Given the description of an element on the screen output the (x, y) to click on. 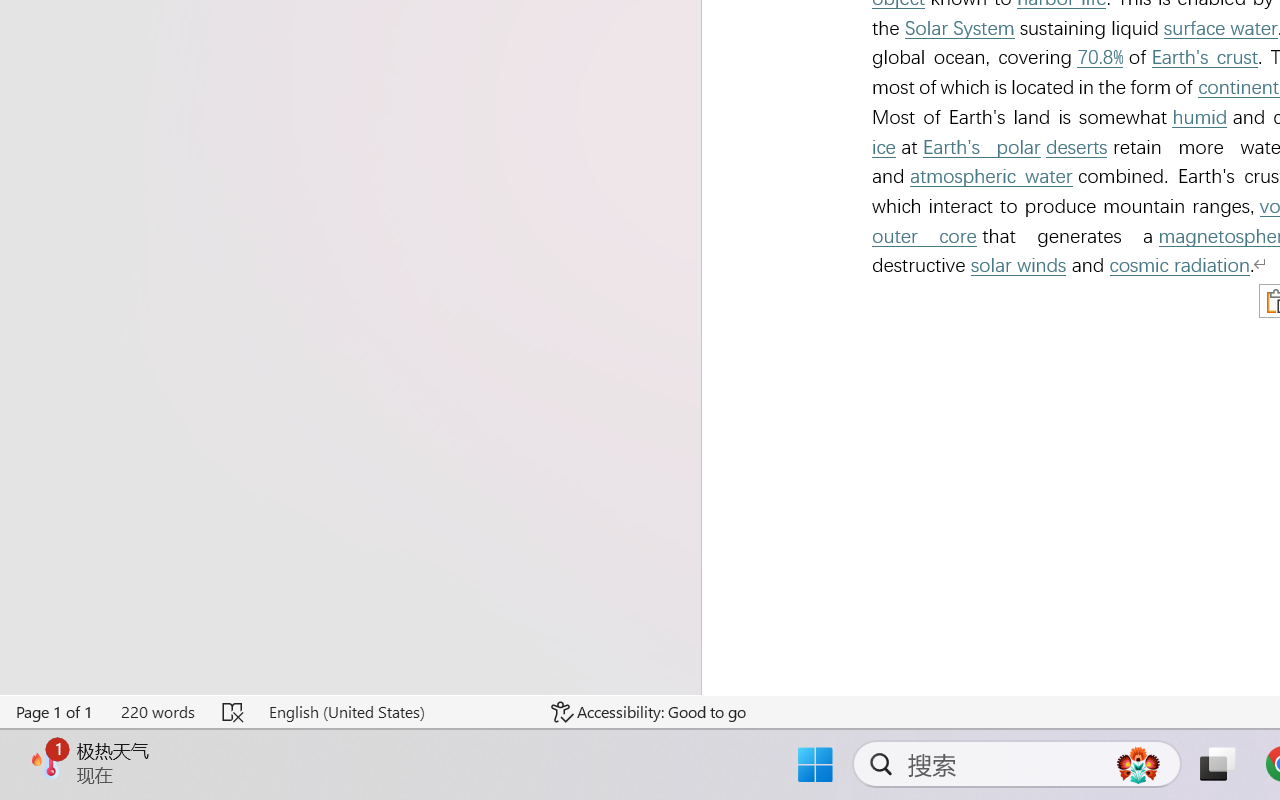
cosmic radiation (1179, 265)
solar winds (1018, 265)
Spelling and Grammar Check Errors (234, 712)
Earth's crust (1205, 57)
Solar System (959, 28)
deserts (1076, 147)
surface water (1220, 28)
humid (1199, 117)
atmospheric water (991, 176)
